Given the description of an element on the screen output the (x, y) to click on. 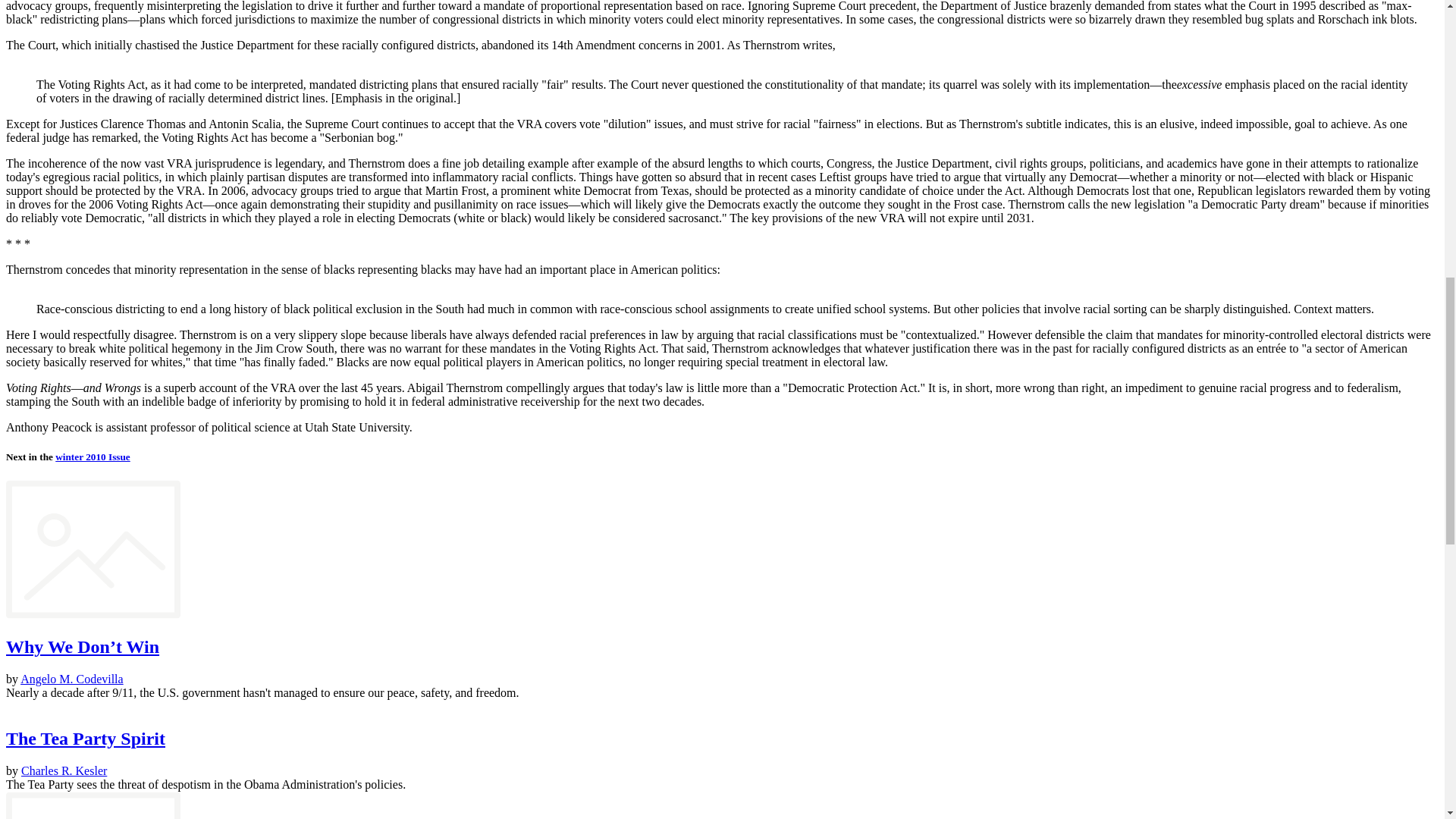
Angelo M. Codevilla (71, 678)
winter 2010 Issue (93, 456)
